Given the description of an element on the screen output the (x, y) to click on. 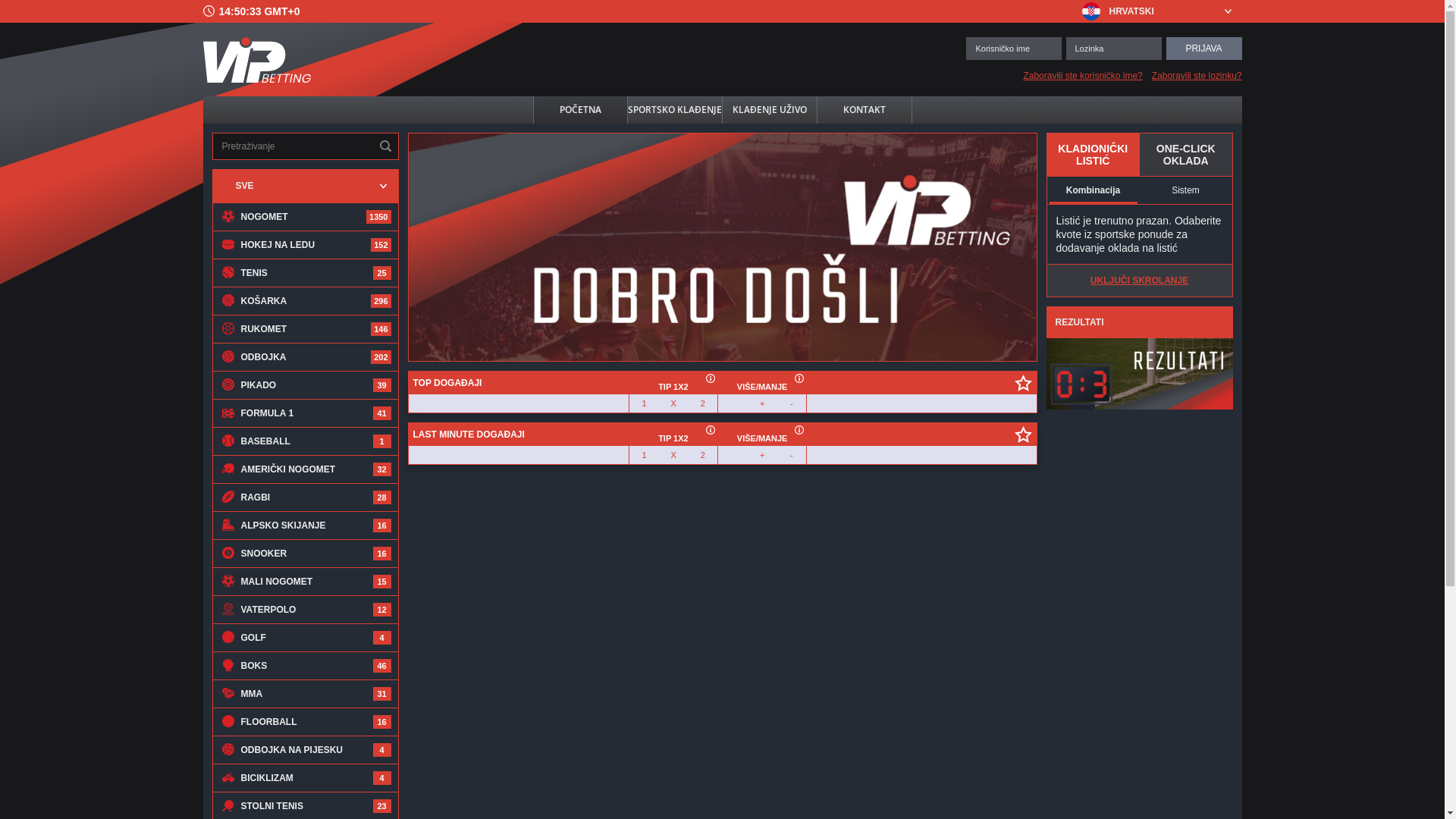
Kombinacija Element type: text (1092, 189)
ONE-CLICK OKLADA Element type: text (1185, 154)
PRIJAVA Element type: text (1204, 47)
FORMULA 1
41 Element type: text (305, 412)
Sistem Element type: text (1185, 189)
SNOOKER
16 Element type: text (305, 553)
PIKADO
39 Element type: text (305, 384)
ODBOJKA
202 Element type: text (305, 356)
NOGOMET
1350 Element type: text (305, 216)
BOKS
46 Element type: text (305, 665)
GOLF
4 Element type: text (305, 637)
RUKOMET
146 Element type: text (305, 328)
SVE Element type: text (305, 185)
BASEBALL
1 Element type: text (305, 440)
MMA
31 Element type: text (305, 693)
RAGBI
28 Element type: text (305, 497)
BICIKLIZAM
4 Element type: text (305, 777)
ODBOJKA NA PIJESKU
4 Element type: text (305, 749)
KONTAKT Element type: text (864, 109)
FLOORBALL
16 Element type: text (305, 721)
Zaboravili ste lozinku? Element type: text (1196, 74)
HOKEJ NA LEDU
152 Element type: text (305, 244)
VATERPOLO
12 Element type: text (305, 609)
MALI NOGOMET
15 Element type: text (305, 581)
ALPSKO SKIJANJE
16 Element type: text (305, 525)
TENIS
25 Element type: text (305, 272)
